Given the description of an element on the screen output the (x, y) to click on. 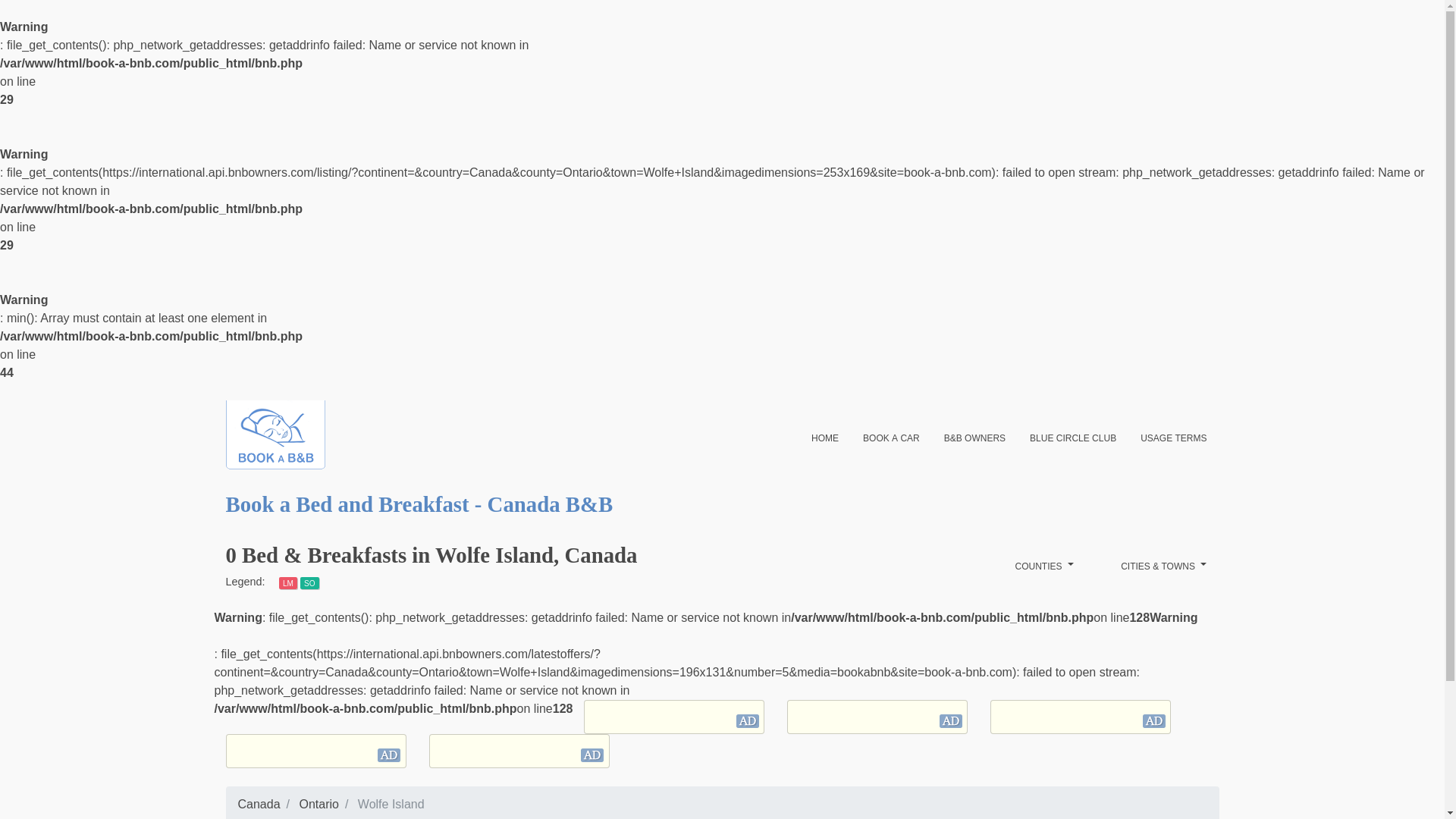
blue circle club (1072, 436)
counties (1044, 565)
Ontario (317, 803)
Wolfe Island (391, 803)
usage terms (1173, 436)
book a car (890, 436)
Canada (259, 803)
